Given the description of an element on the screen output the (x, y) to click on. 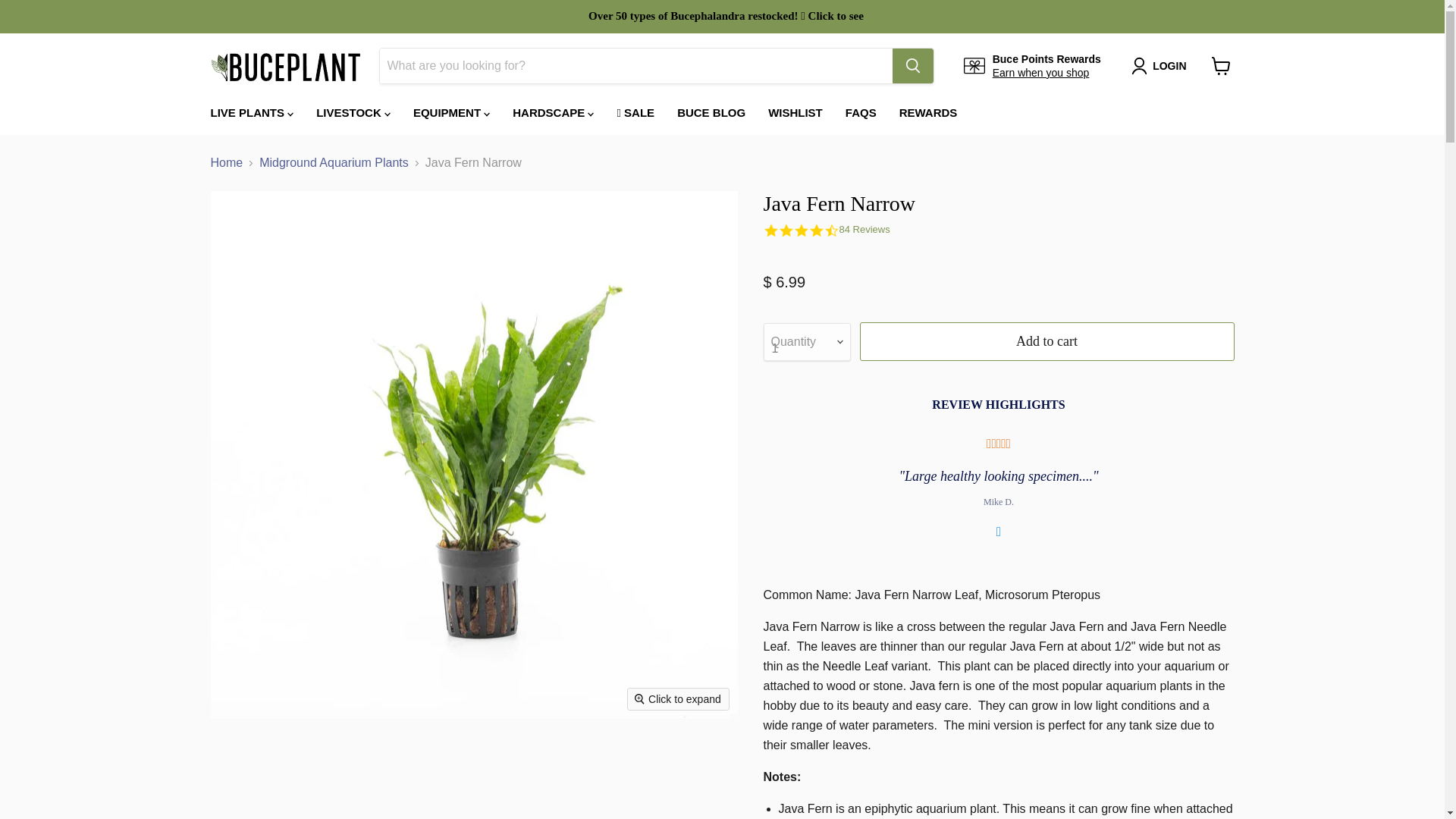
LOGIN (1169, 65)
View cart (1221, 65)
Earn when you shop (1040, 72)
BuceRewards (1040, 72)
